Given the description of an element on the screen output the (x, y) to click on. 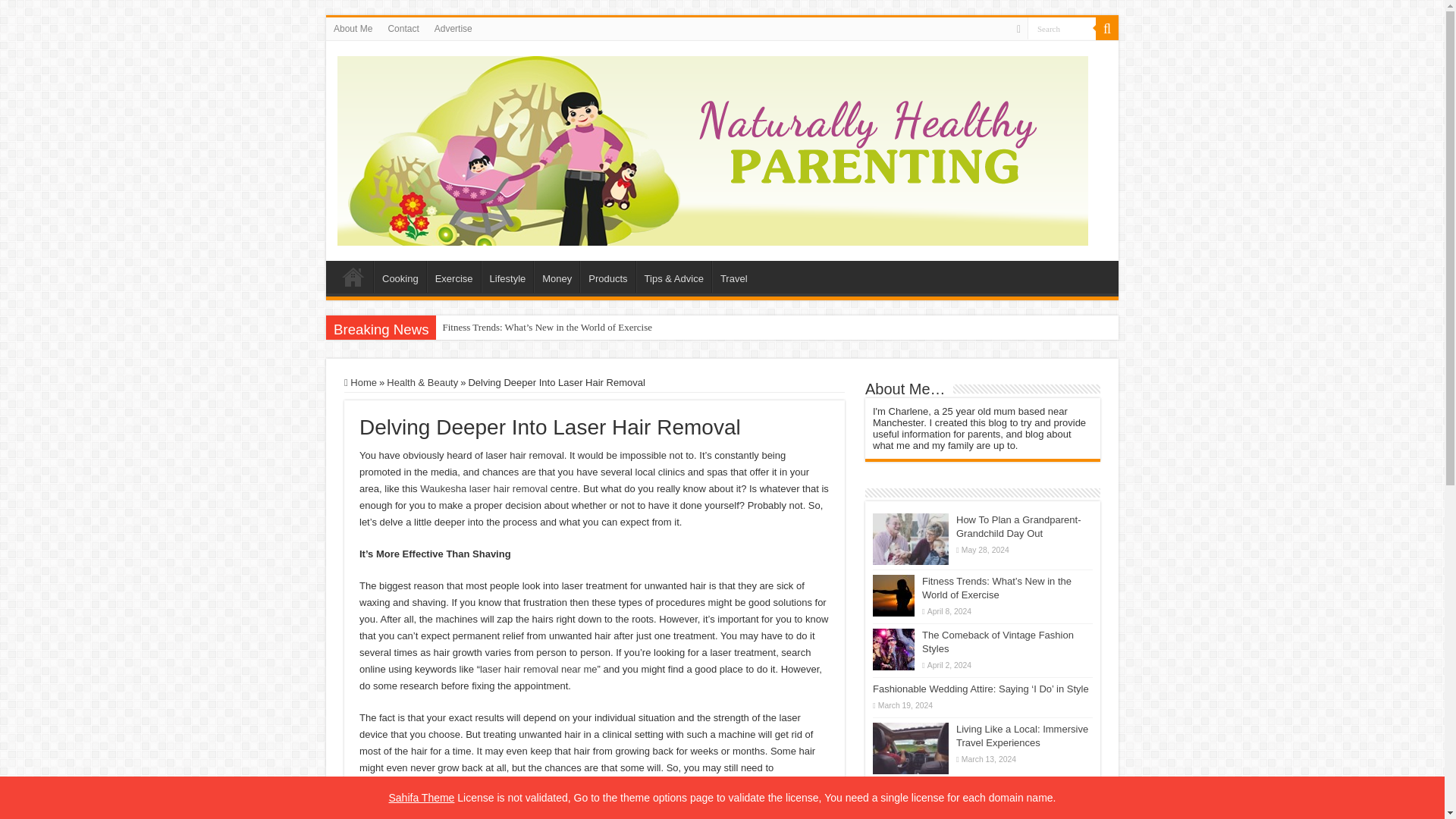
Naturally Healthy Parenting (712, 147)
Waukesha laser hair removal (483, 488)
Home (352, 276)
Search (1061, 28)
Travel (733, 276)
Lifestyle (507, 276)
About Me (353, 28)
Home (360, 382)
Search (1107, 28)
Advertise (453, 28)
Search (1061, 28)
Money (556, 276)
Search (1061, 28)
laser hair removal near me (538, 668)
Cooking (400, 276)
